Given the description of an element on the screen output the (x, y) to click on. 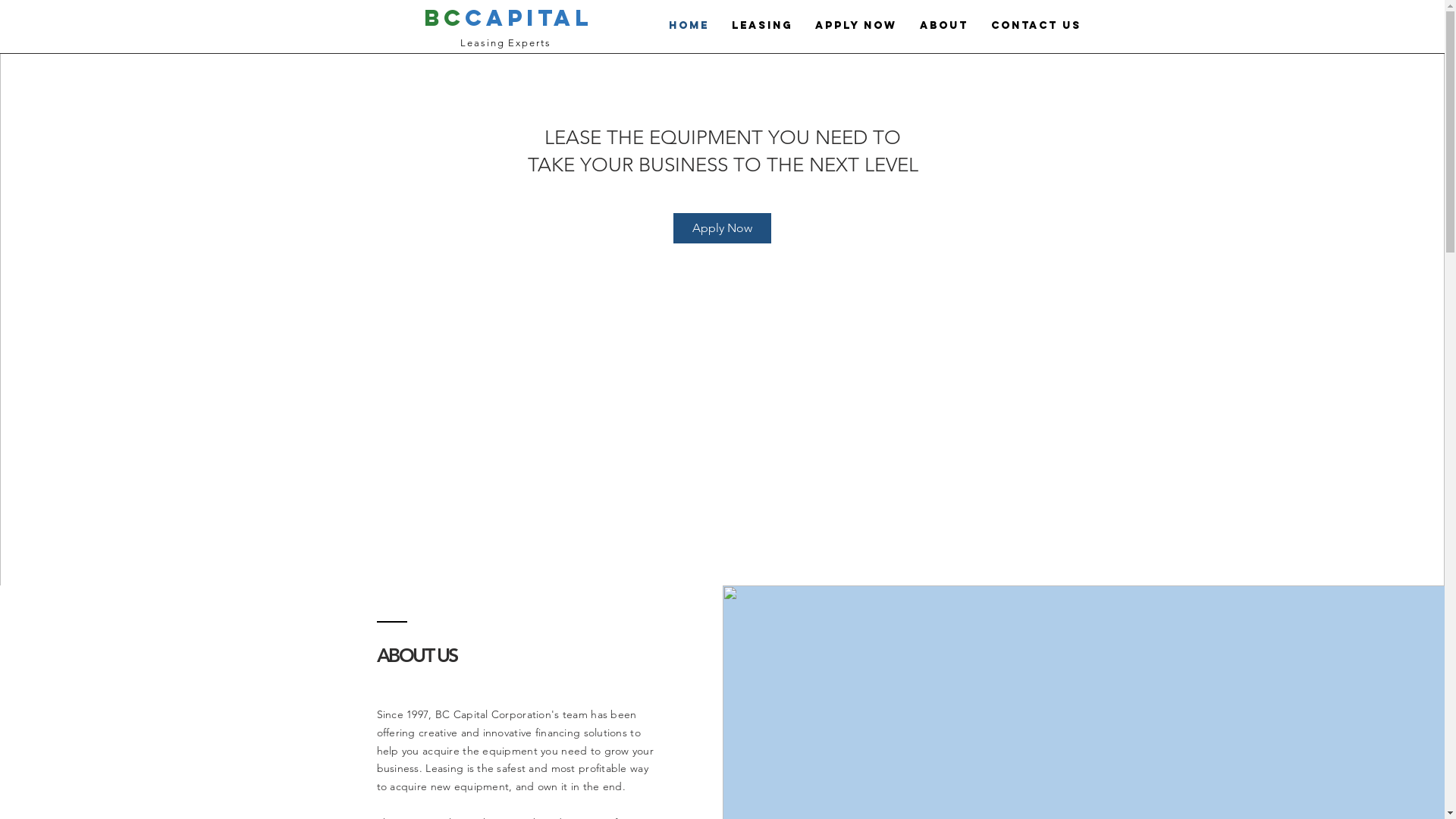
Apply Now Element type: text (855, 25)
BCCapital Element type: text (507, 17)
About Element type: text (943, 25)
Leasing Experts Element type: text (505, 42)
Home Element type: text (687, 25)
Contact Us Element type: text (1035, 25)
Leasing Element type: text (761, 25)
Apply Now Element type: text (722, 228)
